Given the description of an element on the screen output the (x, y) to click on. 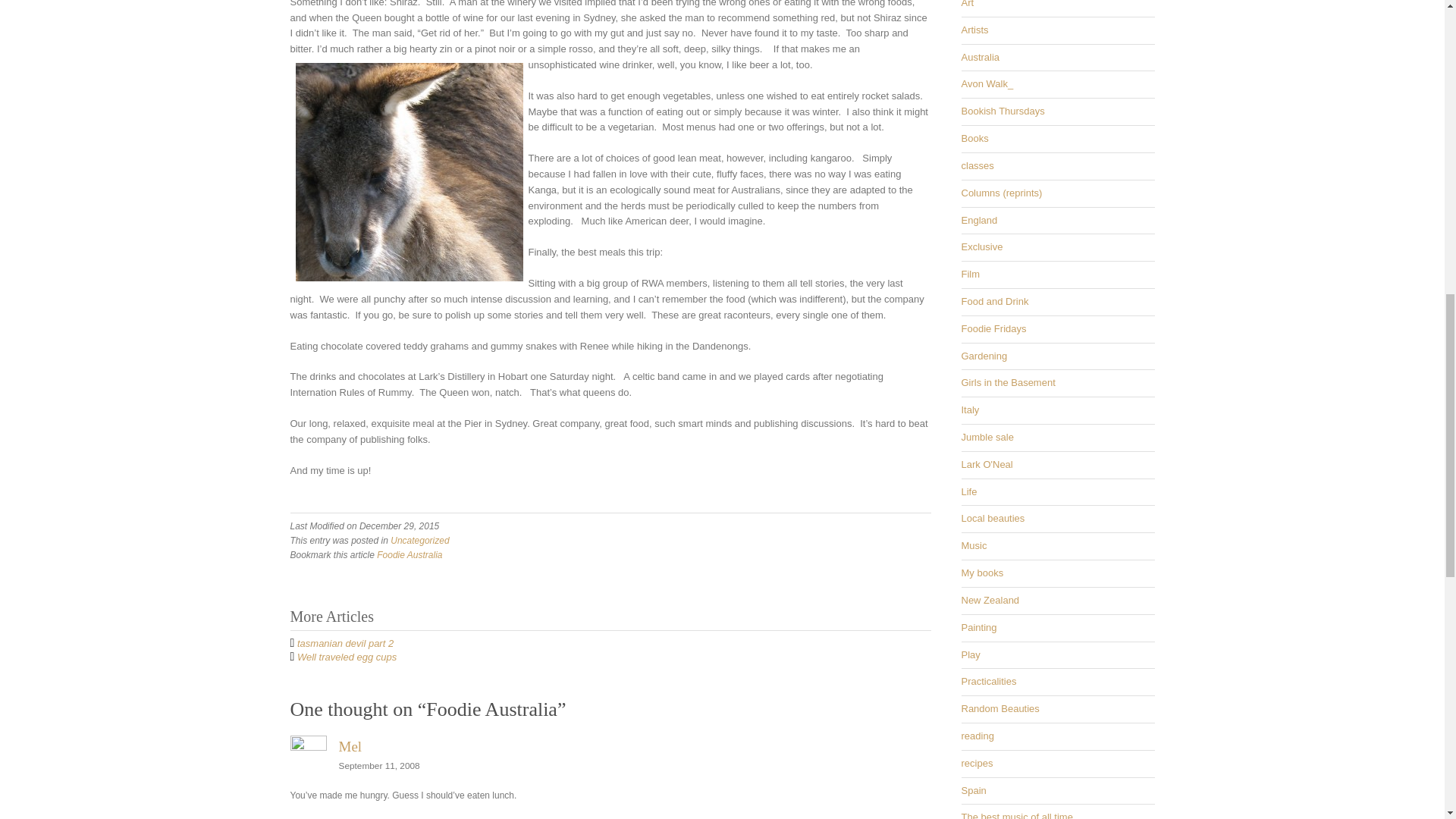
Books (974, 138)
Uncategorized (419, 540)
classes (977, 165)
Well traveled egg cups (346, 656)
Artists (974, 30)
Australia (980, 57)
Art (967, 4)
Mel (349, 746)
Bookish Thursdays (1002, 111)
Foodie Australia (409, 554)
